Given the description of an element on the screen output the (x, y) to click on. 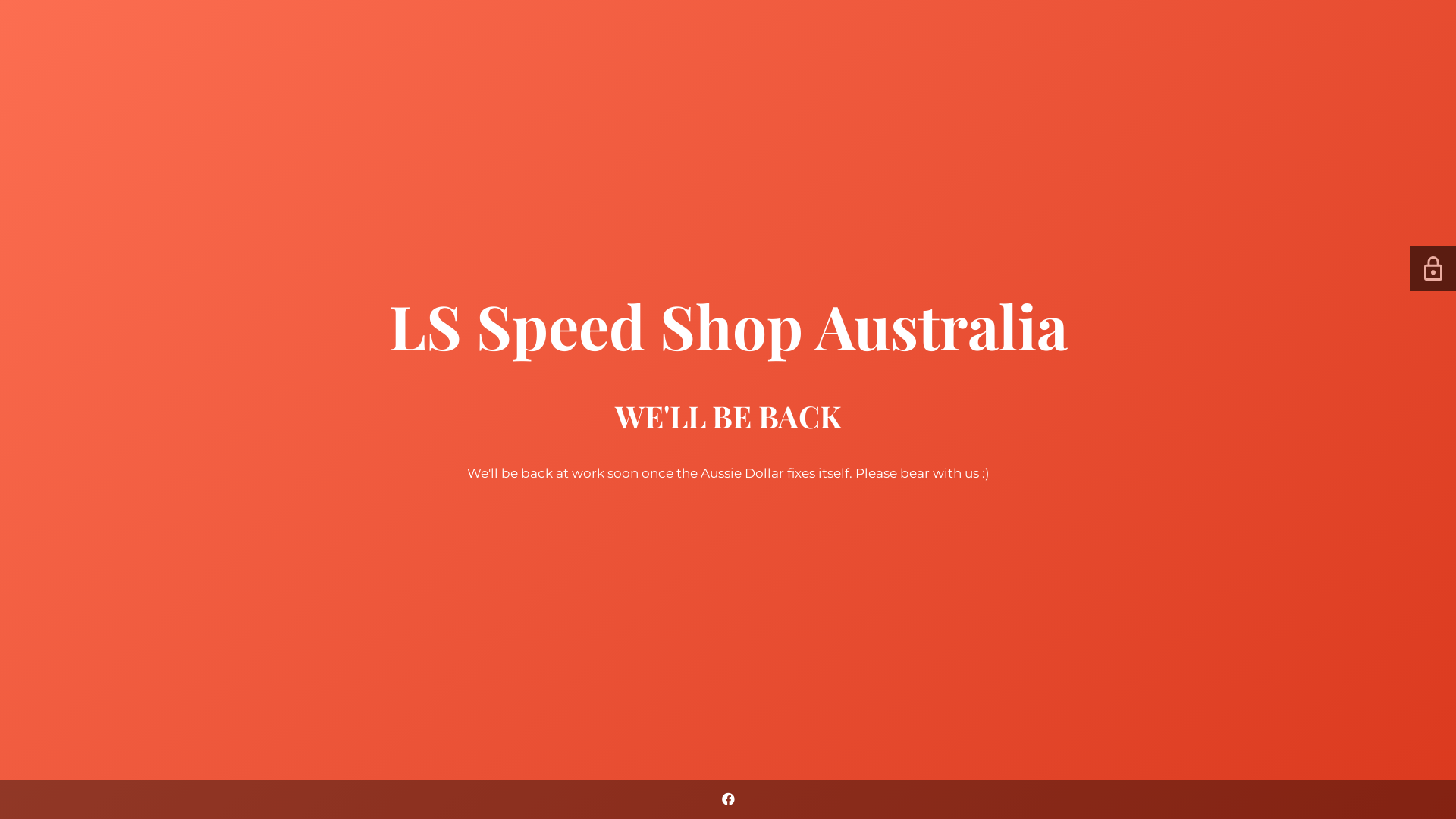
LS Speed Shop Australia Element type: text (727, 338)
